Given the description of an element on the screen output the (x, y) to click on. 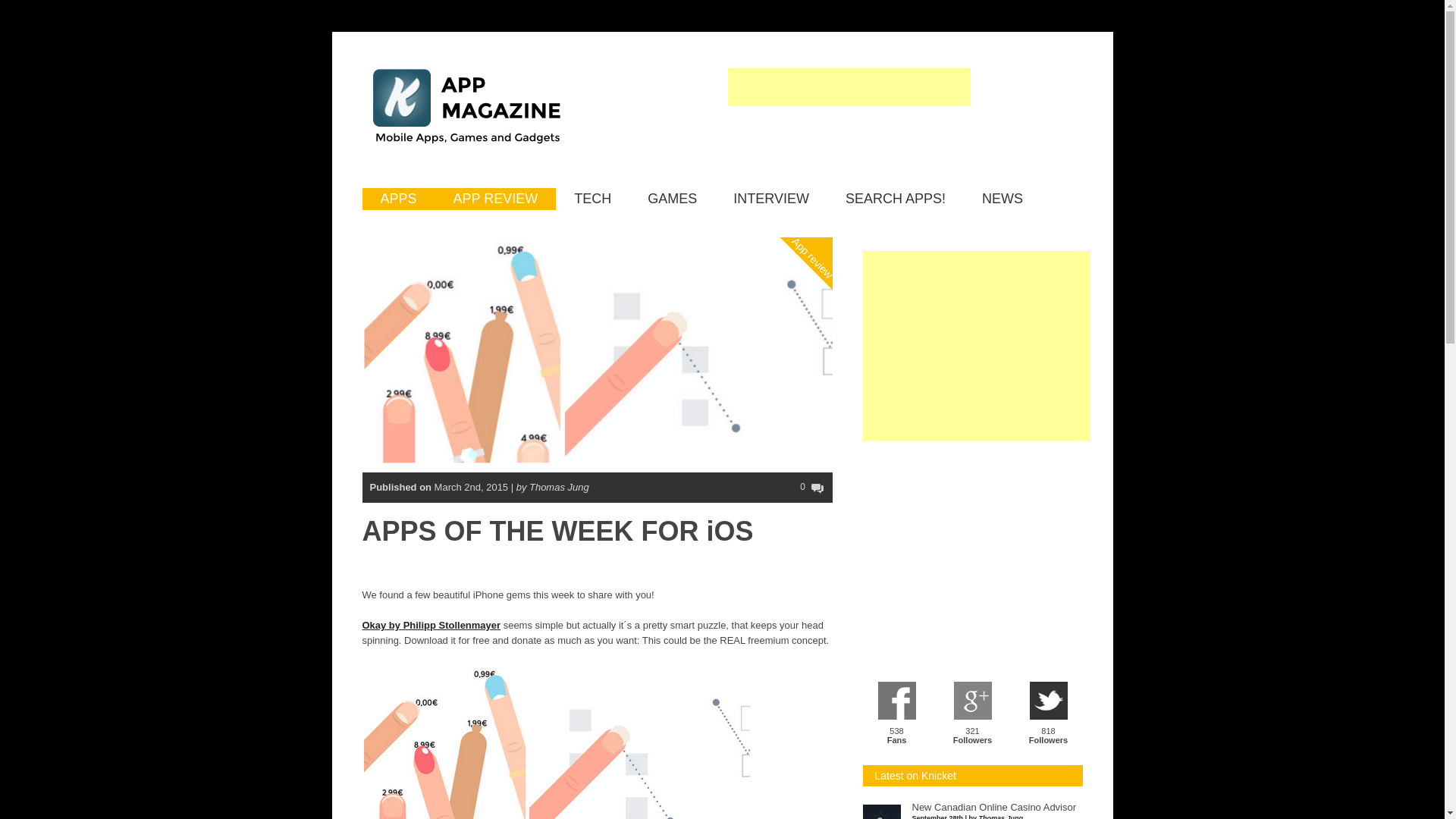
Okay by Philipp Stollenmayer (431, 624)
TECH (592, 198)
NEWS (1002, 198)
App review (828, 196)
New Canadian Online Casino Advisor (993, 807)
APP REVIEW (495, 198)
SEARCH APPS! (895, 198)
Advertisement (849, 143)
GAMES (671, 198)
Advertisement (976, 554)
APPS (398, 198)
INTERVIEW (770, 198)
New Canadian Online Casino Advisor (993, 807)
